Given the description of an element on the screen output the (x, y) to click on. 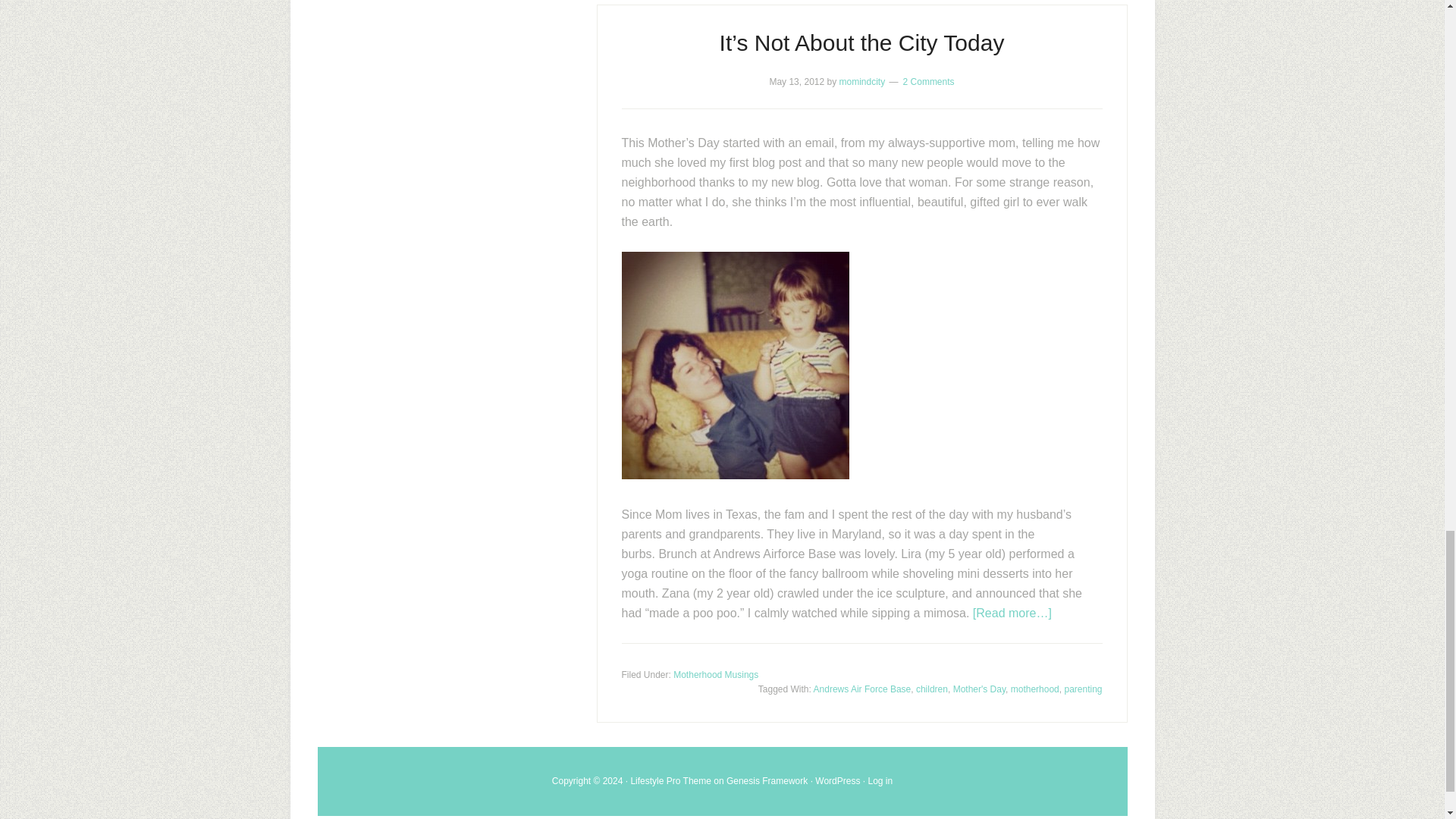
children (931, 688)
Andrews Air Force Base (862, 688)
2 Comments (928, 81)
motherhood (1034, 688)
Motherhood Musings (715, 674)
Mother's Day (979, 688)
momindcity (861, 81)
parenting (1083, 688)
